Given the description of an element on the screen output the (x, y) to click on. 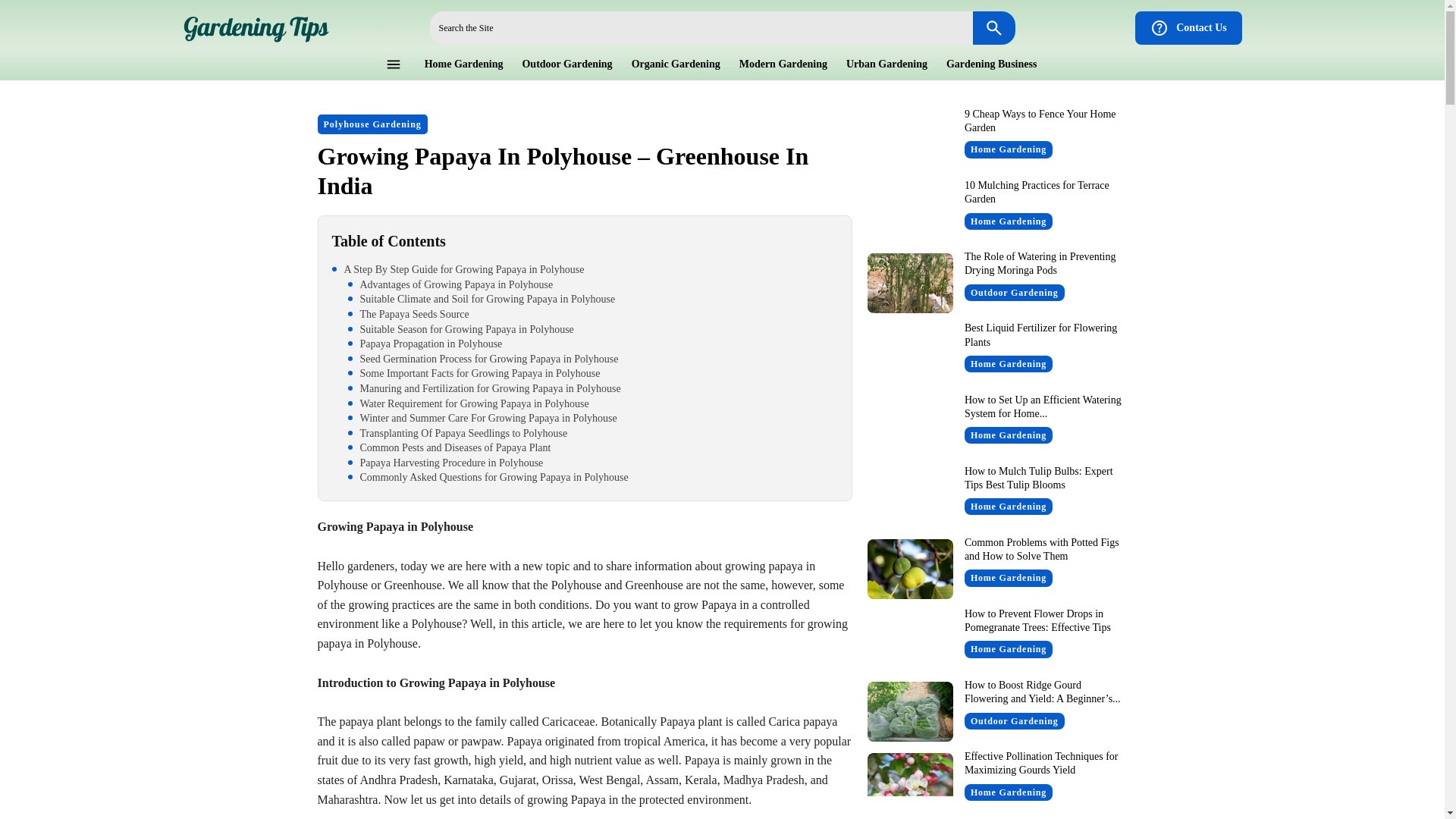
Best Liquid Fertilizer for Flowering Plants (910, 354)
The Role of Watering in Preventing Drying Moringa Pods (910, 282)
10 Mulching Practices for Terrace Garden (910, 211)
Contact Us (1188, 28)
How to Set Up an Efficient Watering System for Home Garden (910, 426)
Best Liquid Fertilizer for Flowering Plants (1039, 334)
10 Mulching Practices for Terrace Garden (1036, 191)
Contact Us (1188, 28)
The Role of Watering in Preventing Drying Moringa Pods (1039, 263)
9 Cheap Ways to Fence Your Home Garden (910, 140)
How to Set Up an Efficient Watering System for Home Garden (1042, 406)
9 Cheap Ways to Fence Your Home Garden (1039, 120)
